Given the description of an element on the screen output the (x, y) to click on. 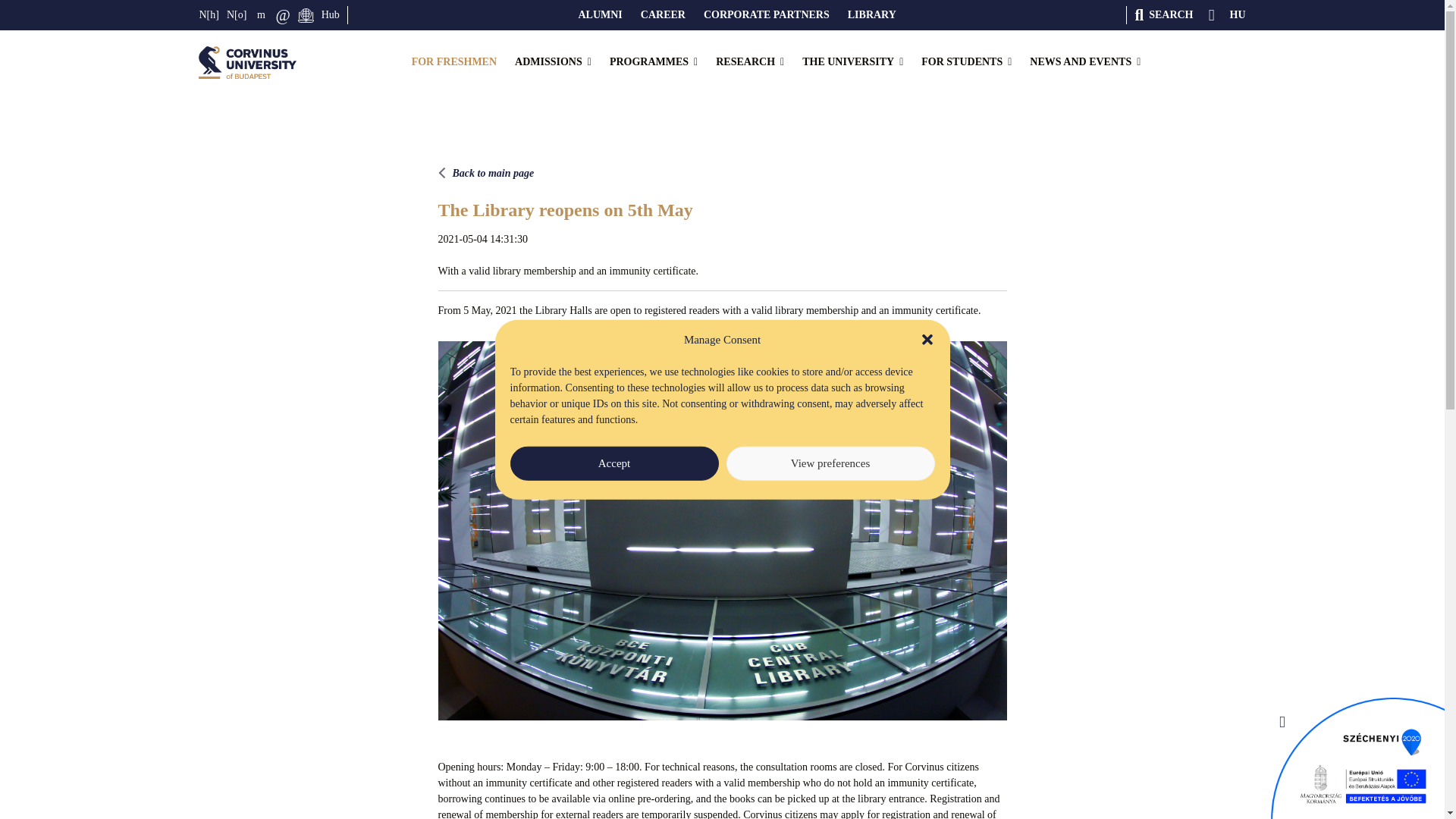
Accept (613, 462)
Teacher NEPTUN (236, 14)
SEARCH (1163, 14)
LIBRARY (871, 14)
Hub (330, 14)
Search (1163, 14)
Student NEPTUN (208, 14)
CORPORATE PARTNERS (766, 14)
ADMISSIONS (553, 62)
CAREER (662, 14)
